Given the description of an element on the screen output the (x, y) to click on. 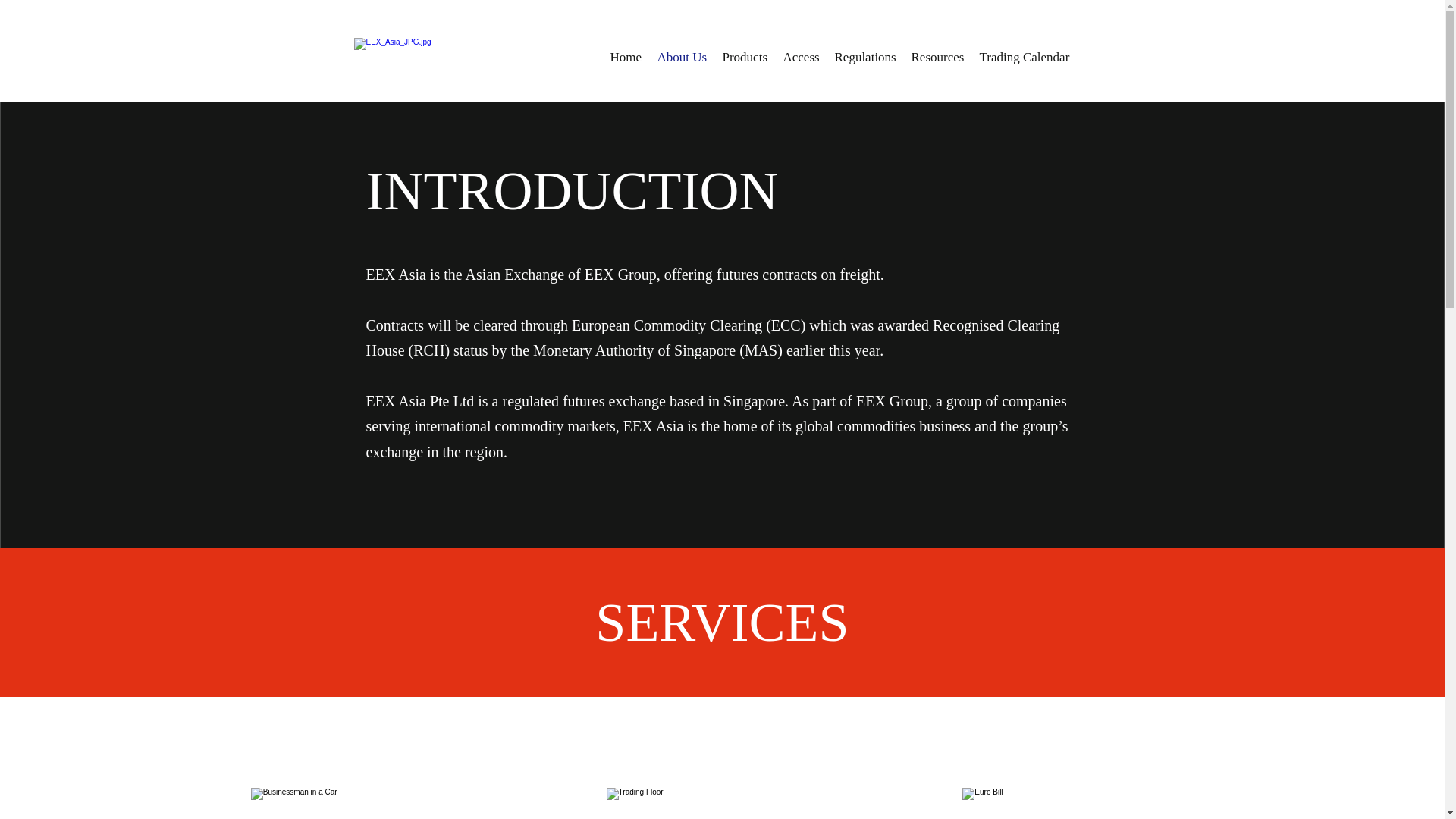
Access (800, 56)
Regulations (864, 56)
Home (625, 56)
About Us (681, 56)
Trading Calendar (1024, 56)
Resources (938, 56)
Products (744, 56)
